Given the description of an element on the screen output the (x, y) to click on. 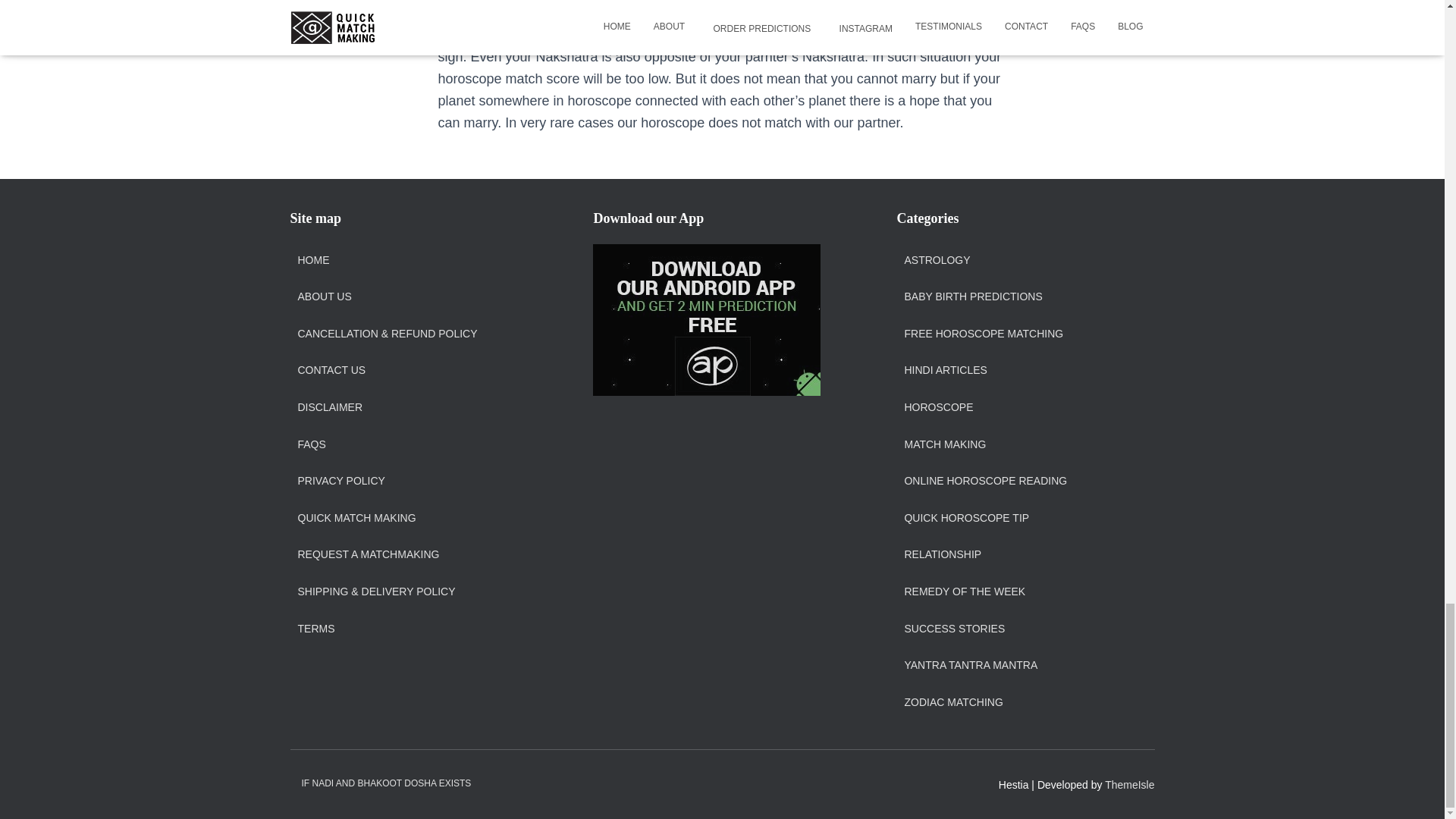
SUCCESS STORIES (954, 629)
HOME (313, 260)
QUICK MATCH MAKING (355, 518)
CONTACT US (331, 370)
HOROSCOPE (938, 408)
PRIVACY POLICY (340, 481)
REQUEST A MATCHMAKING (368, 554)
REMEDY OF THE WEEK (964, 592)
ABOUT US (323, 296)
QUICK HOROSCOPE TIP (966, 518)
HINDI ARTICLES (945, 370)
IF NADI AND BHAKOOT DOSHA EXISTS (385, 783)
ThemeIsle (1129, 784)
MATCH MAKING (944, 444)
RELATIONSHIP (942, 554)
